Given the description of an element on the screen output the (x, y) to click on. 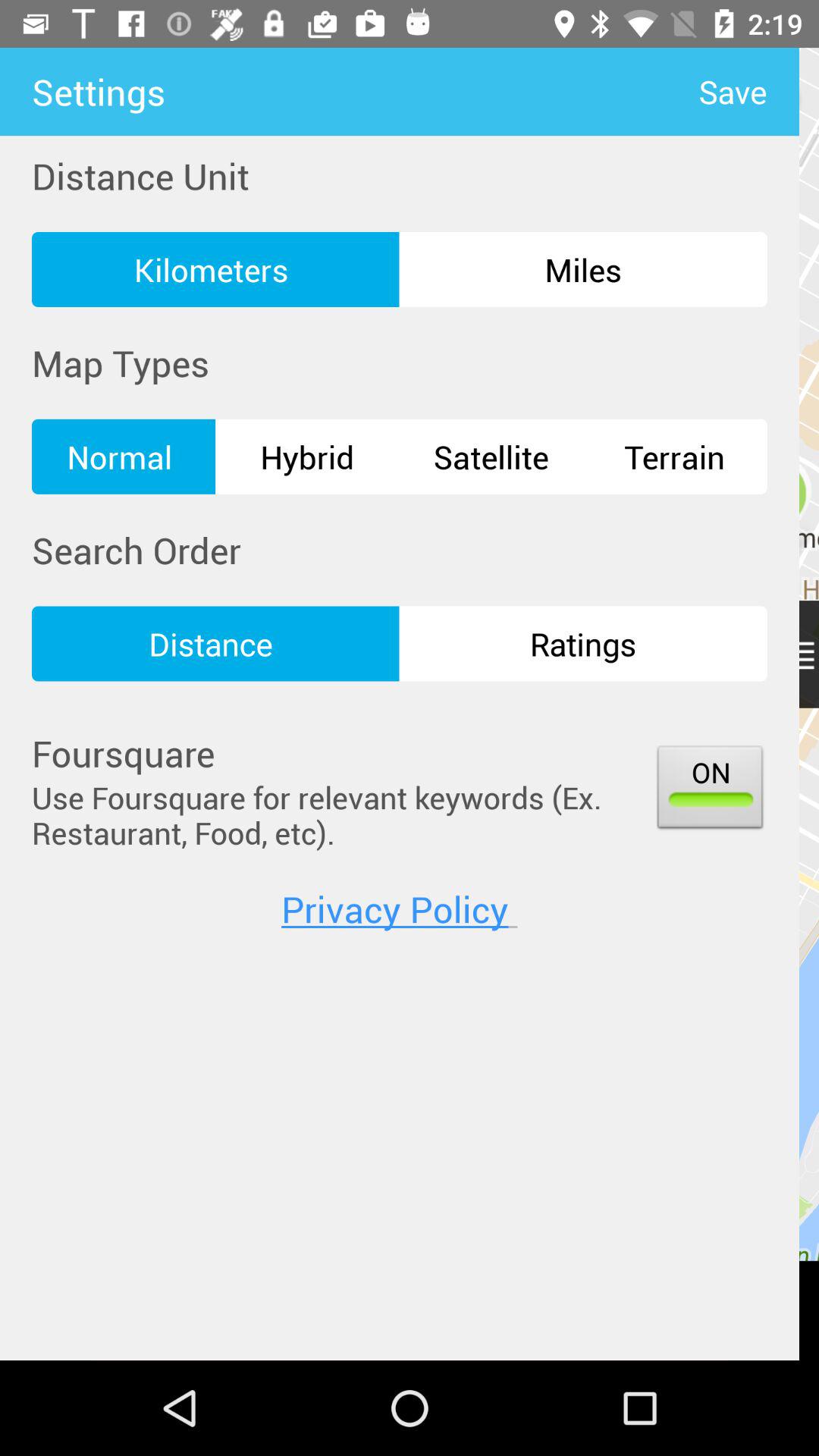
press the icon above the search order item (123, 456)
